Given the description of an element on the screen output the (x, y) to click on. 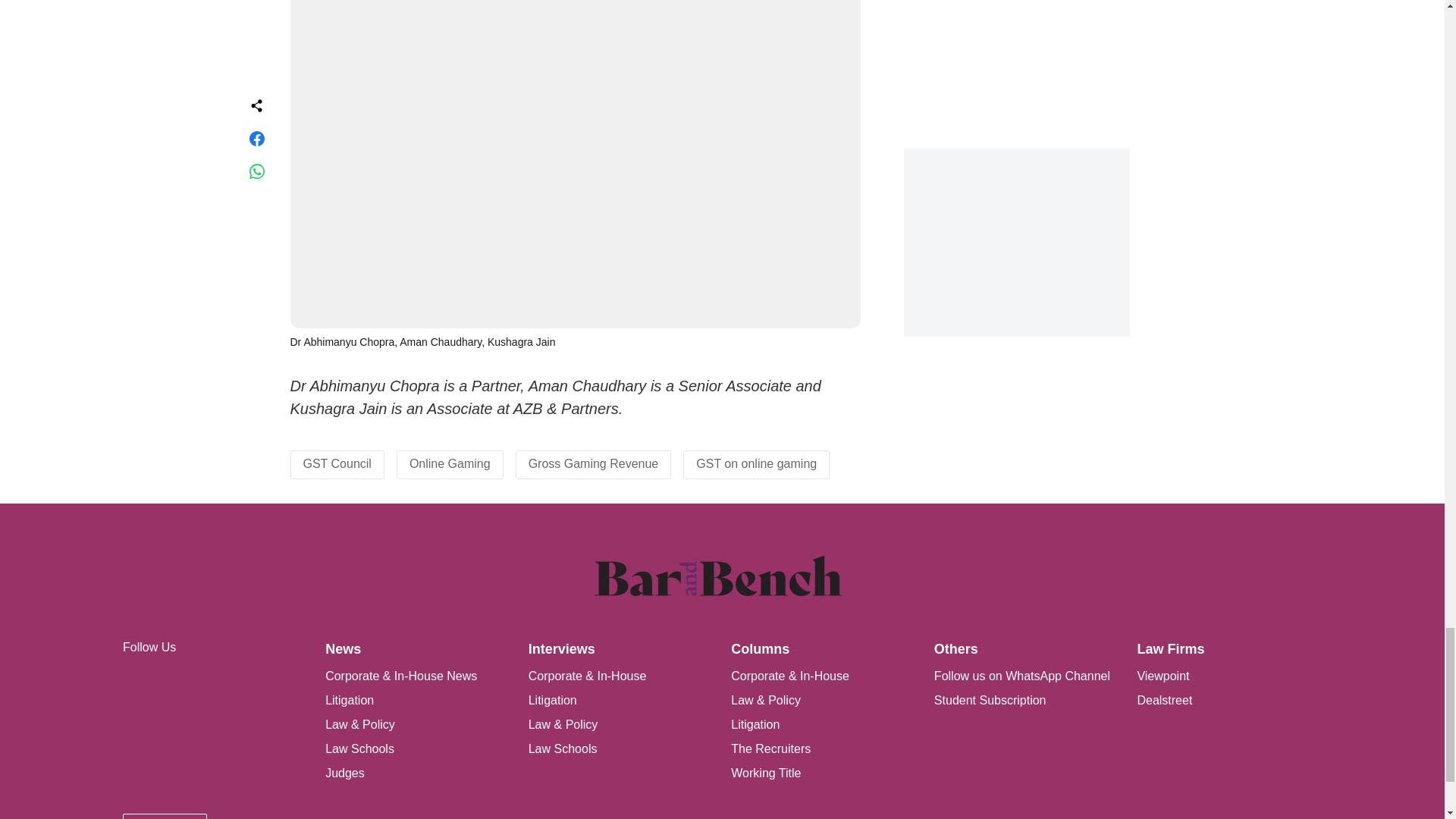
GST Council (336, 463)
GST on online gaming (755, 463)
Online Gaming (449, 463)
Gross Gaming Revenue (593, 463)
